Given the description of an element on the screen output the (x, y) to click on. 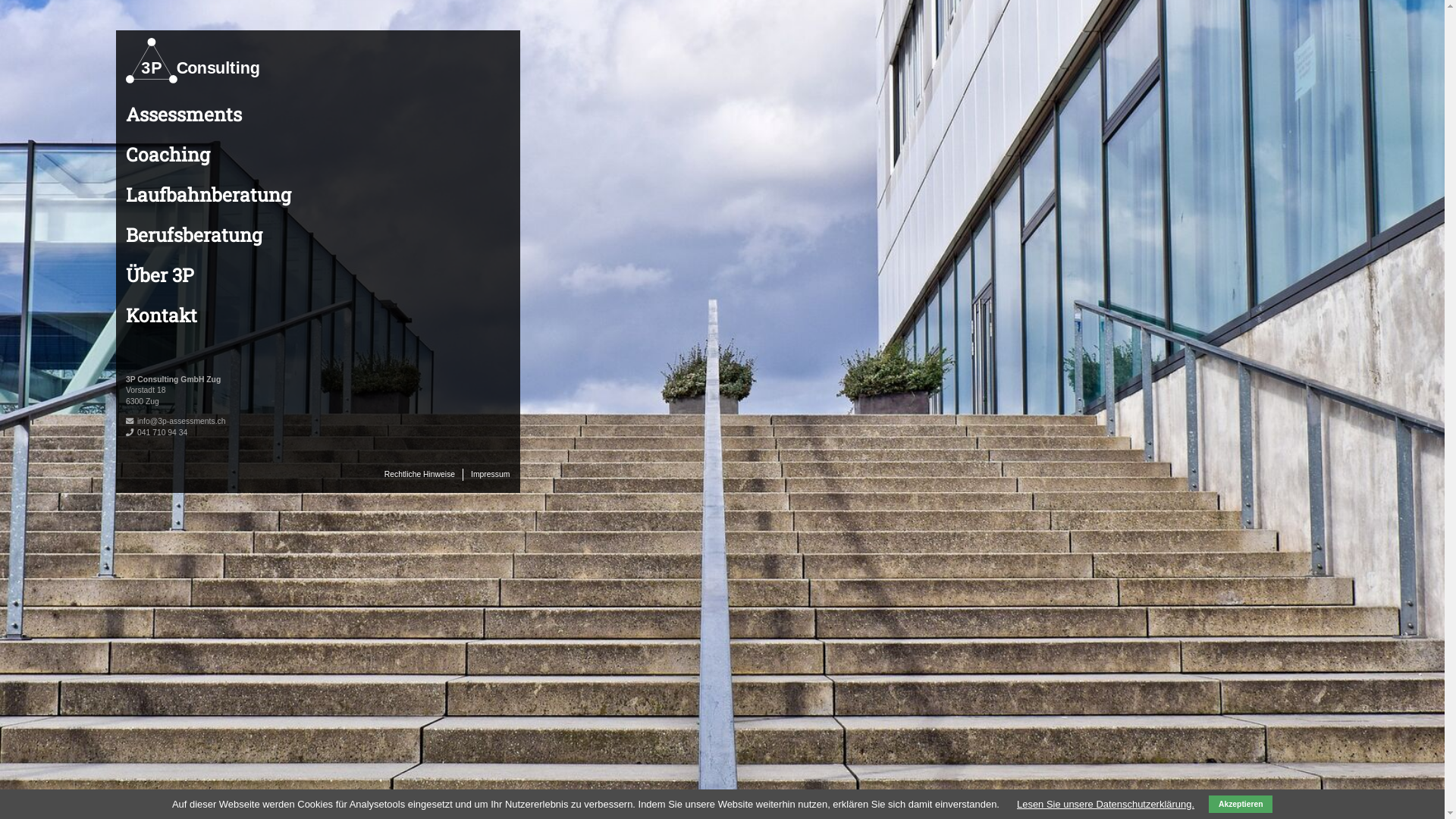
Akzeptieren Element type: text (1240, 803)
info@3p-assessments.ch Element type: text (181, 421)
Berufsberatung Element type: text (193, 234)
041 710 94 34 Element type: text (162, 432)
  Element type: text (125, 343)
Coaching Element type: text (167, 153)
Impressum Element type: text (489, 474)
Laufbahnberatung Element type: text (208, 194)
Assessments Element type: text (183, 113)
  Element type: text (508, 467)
Rechtliche Hinweise Element type: text (419, 474)
Kontakt Element type: text (161, 314)
